Given the description of an element on the screen output the (x, y) to click on. 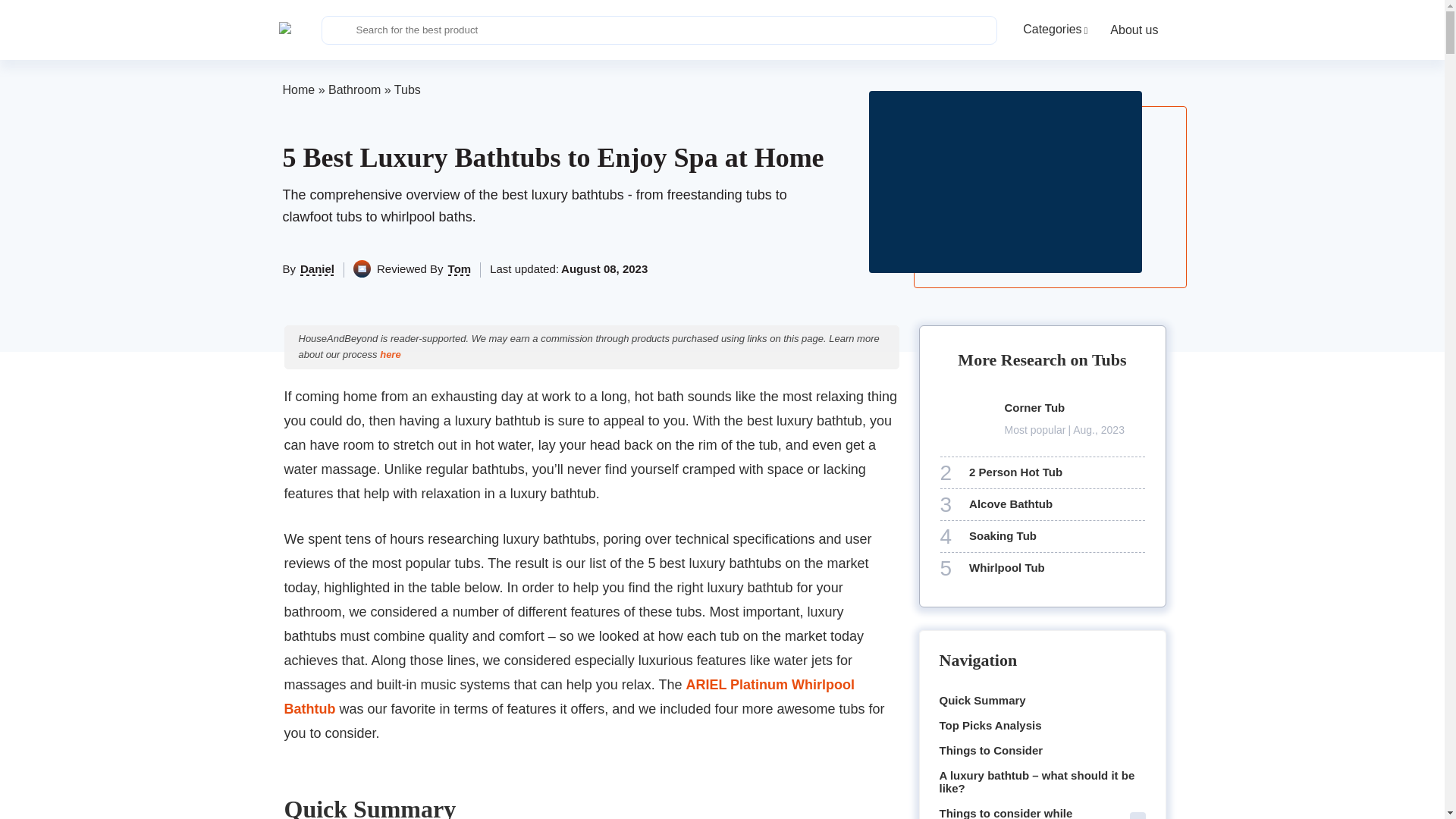
Categories (1054, 29)
